Given the description of an element on the screen output the (x, y) to click on. 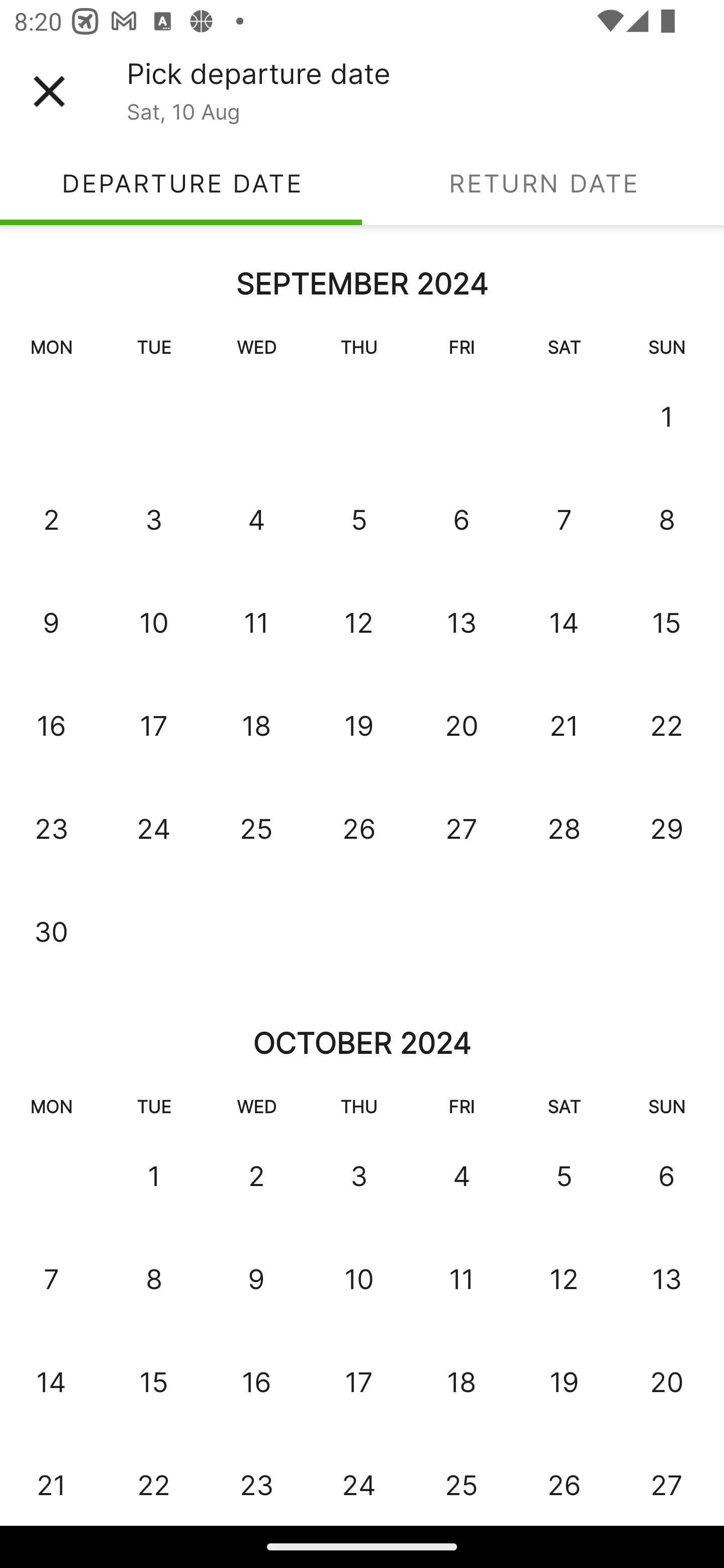
Return Date RETURN DATE (543, 183)
